Given the description of an element on the screen output the (x, y) to click on. 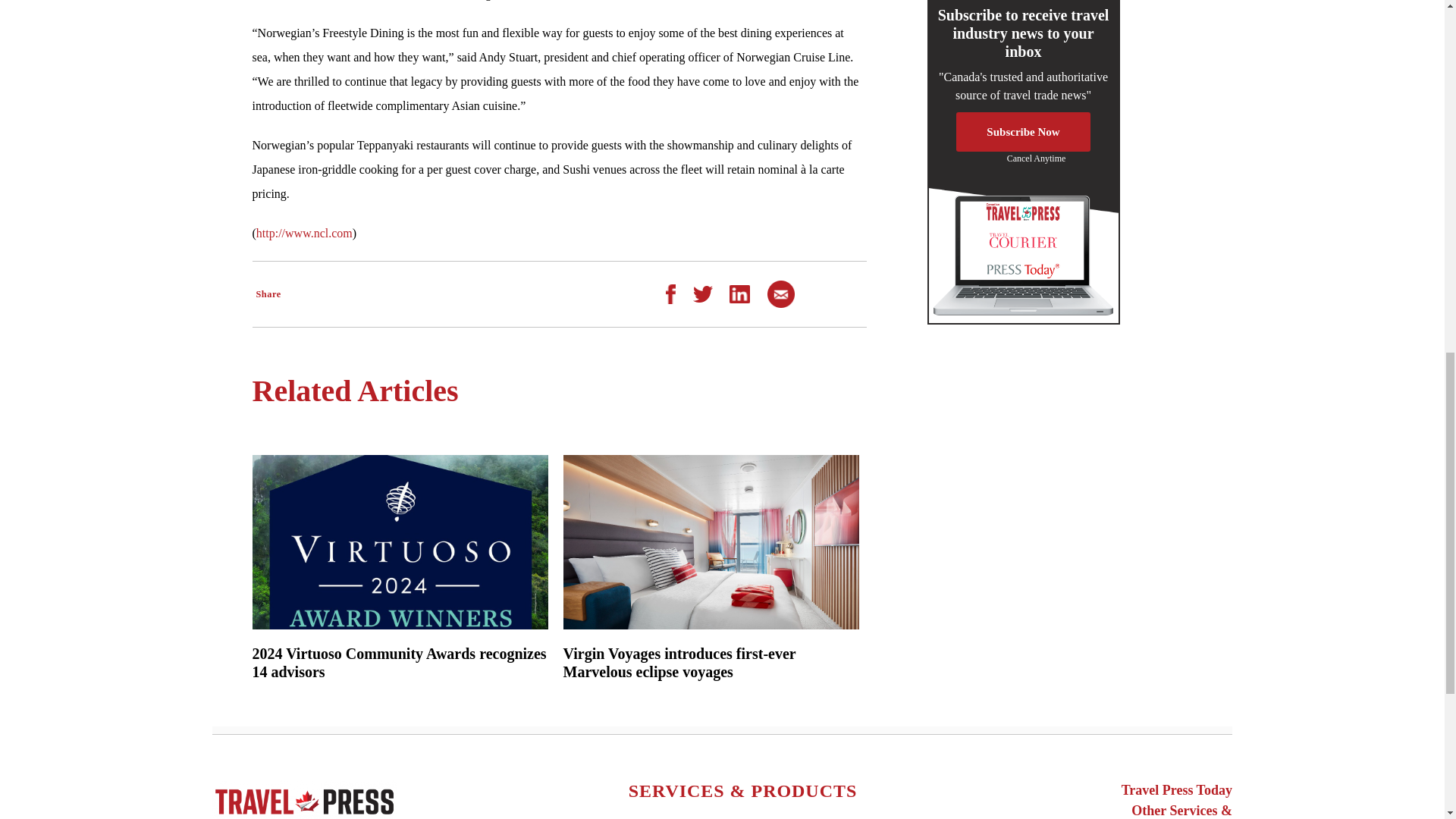
Share by Email (780, 292)
2024 Virtuoso Community Awards recognizes 14 advisors (399, 662)
